Given the description of an element on the screen output the (x, y) to click on. 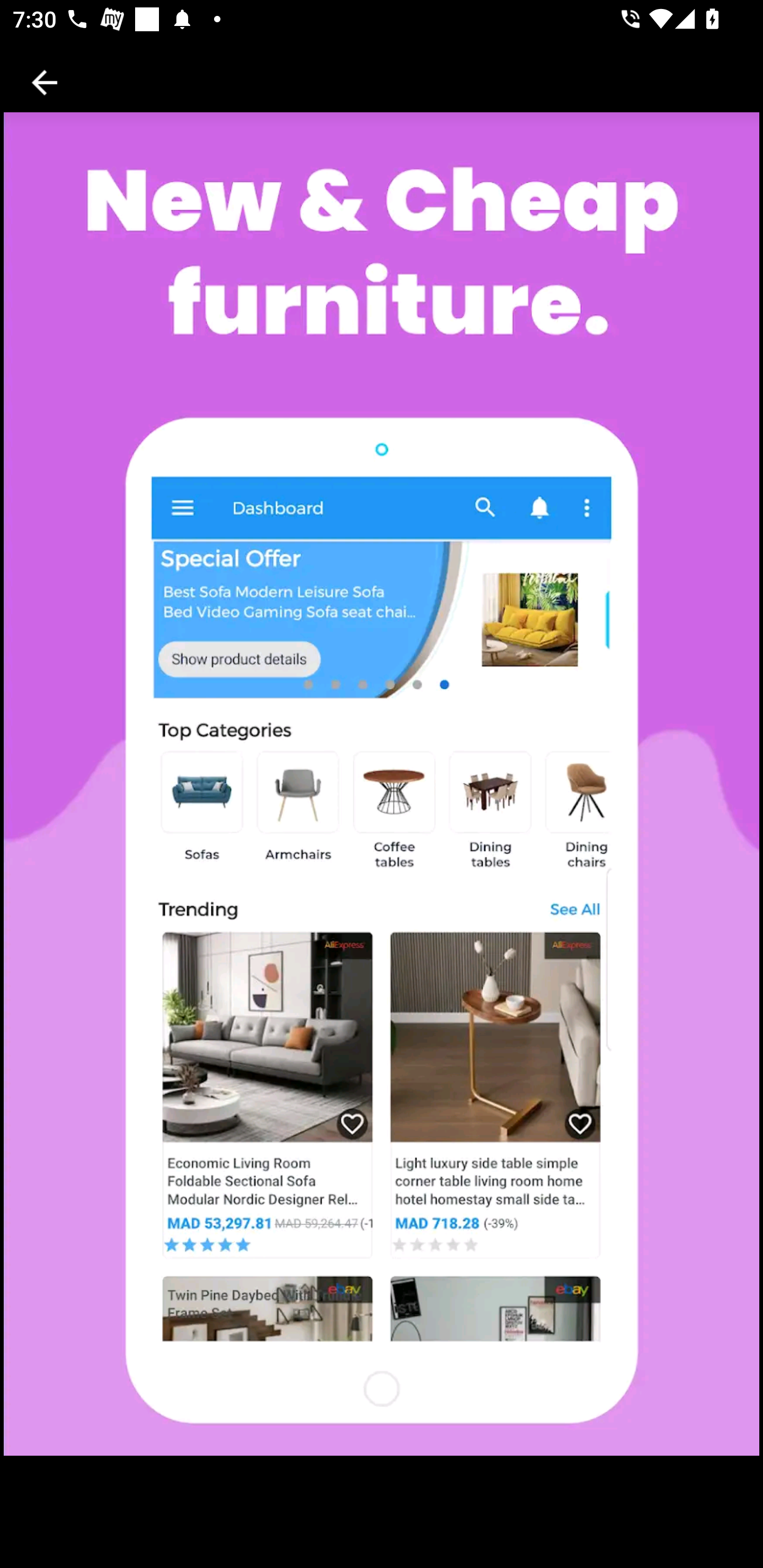
Back (44, 82)
